Given the description of an element on the screen output the (x, y) to click on. 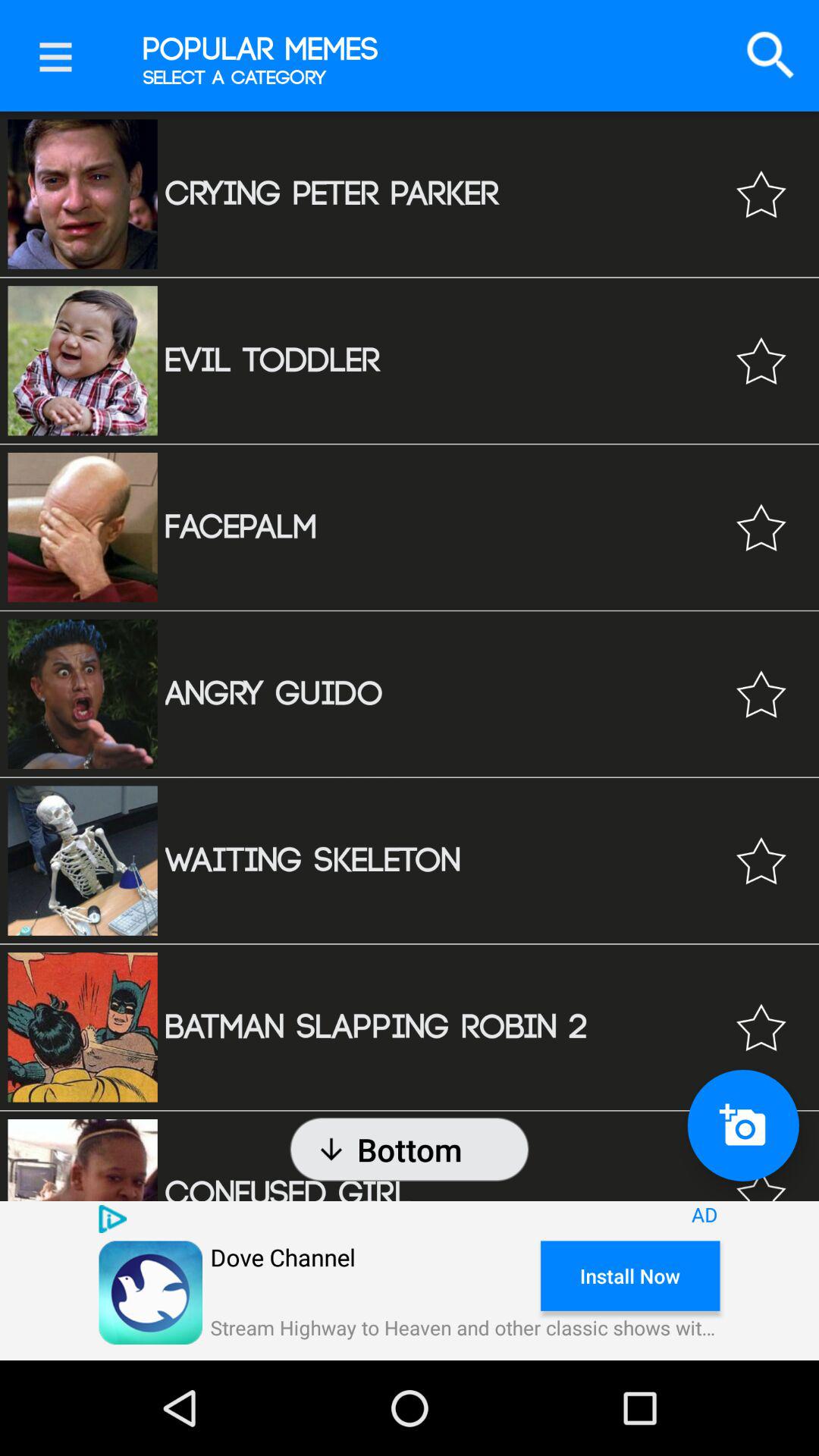
add a picture (743, 1125)
